Given the description of an element on the screen output the (x, y) to click on. 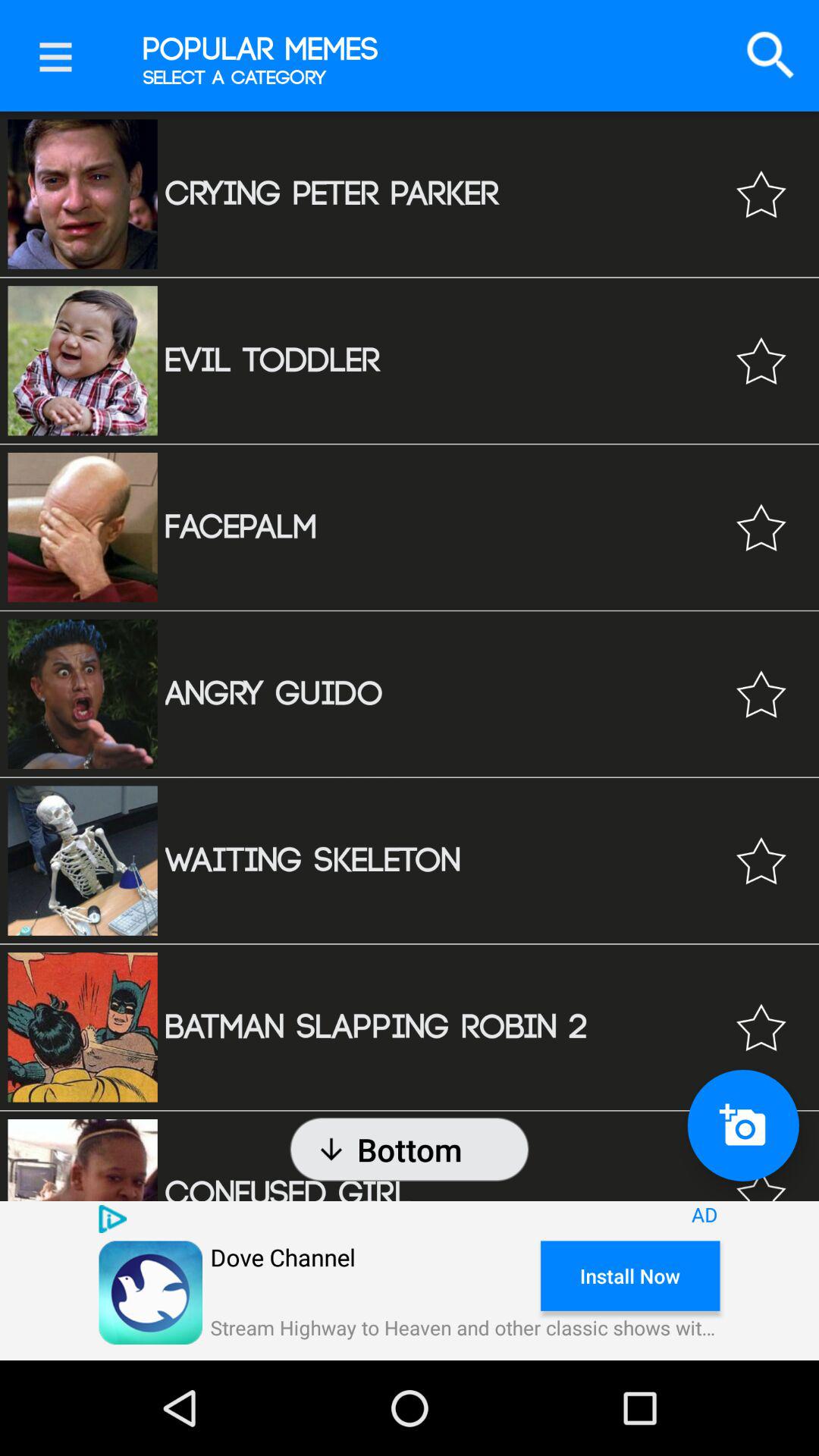
add a picture (743, 1125)
